Given the description of an element on the screen output the (x, y) to click on. 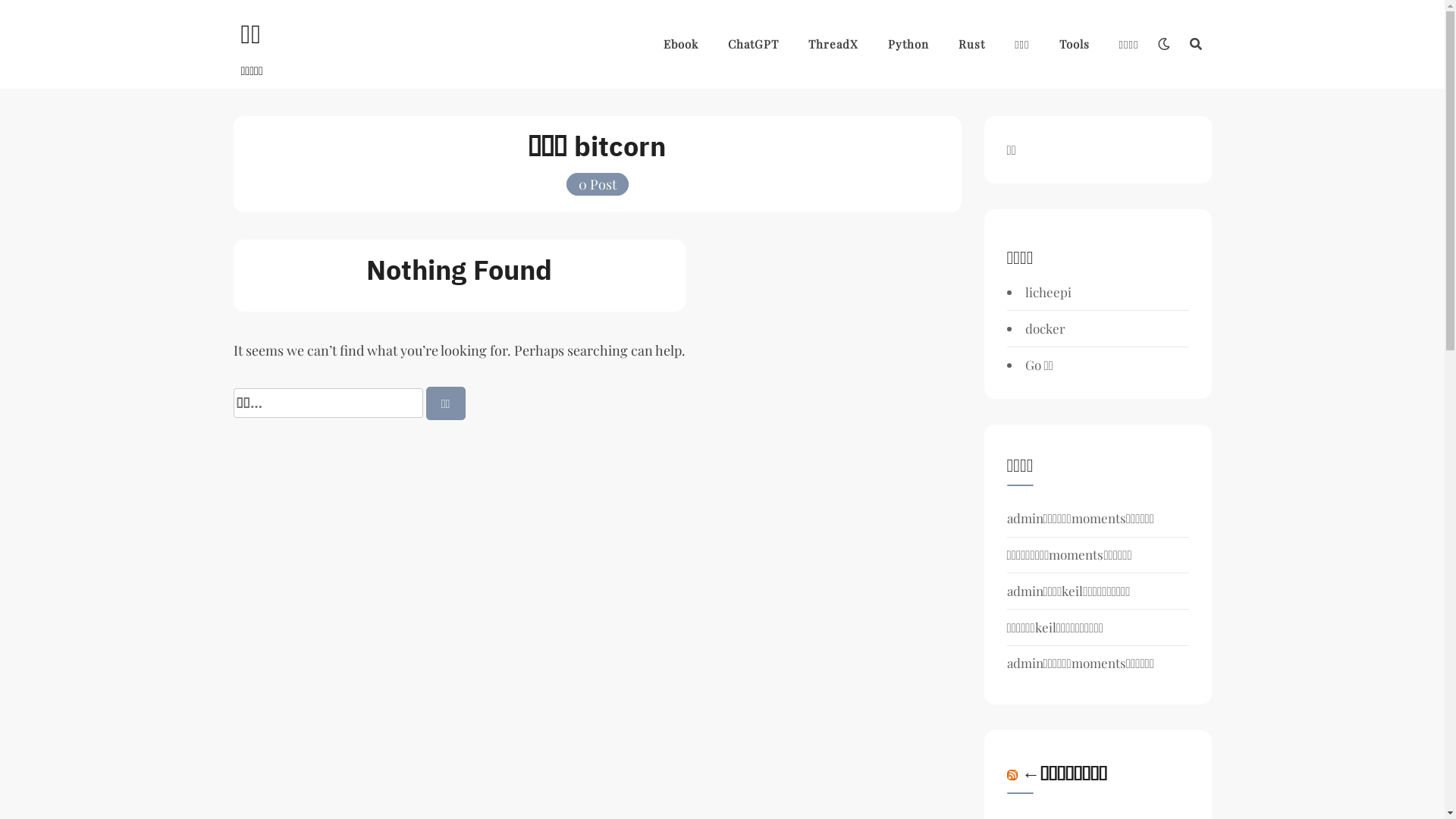
ChatGPT Element type: text (753, 43)
Ebook Element type: text (680, 43)
docker Element type: text (1045, 328)
Tools Element type: text (1074, 43)
Python Element type: text (908, 43)
licheepi Element type: text (1048, 291)
Rust Element type: text (971, 43)
ThreadX Element type: text (833, 43)
